Given the description of an element on the screen output the (x, y) to click on. 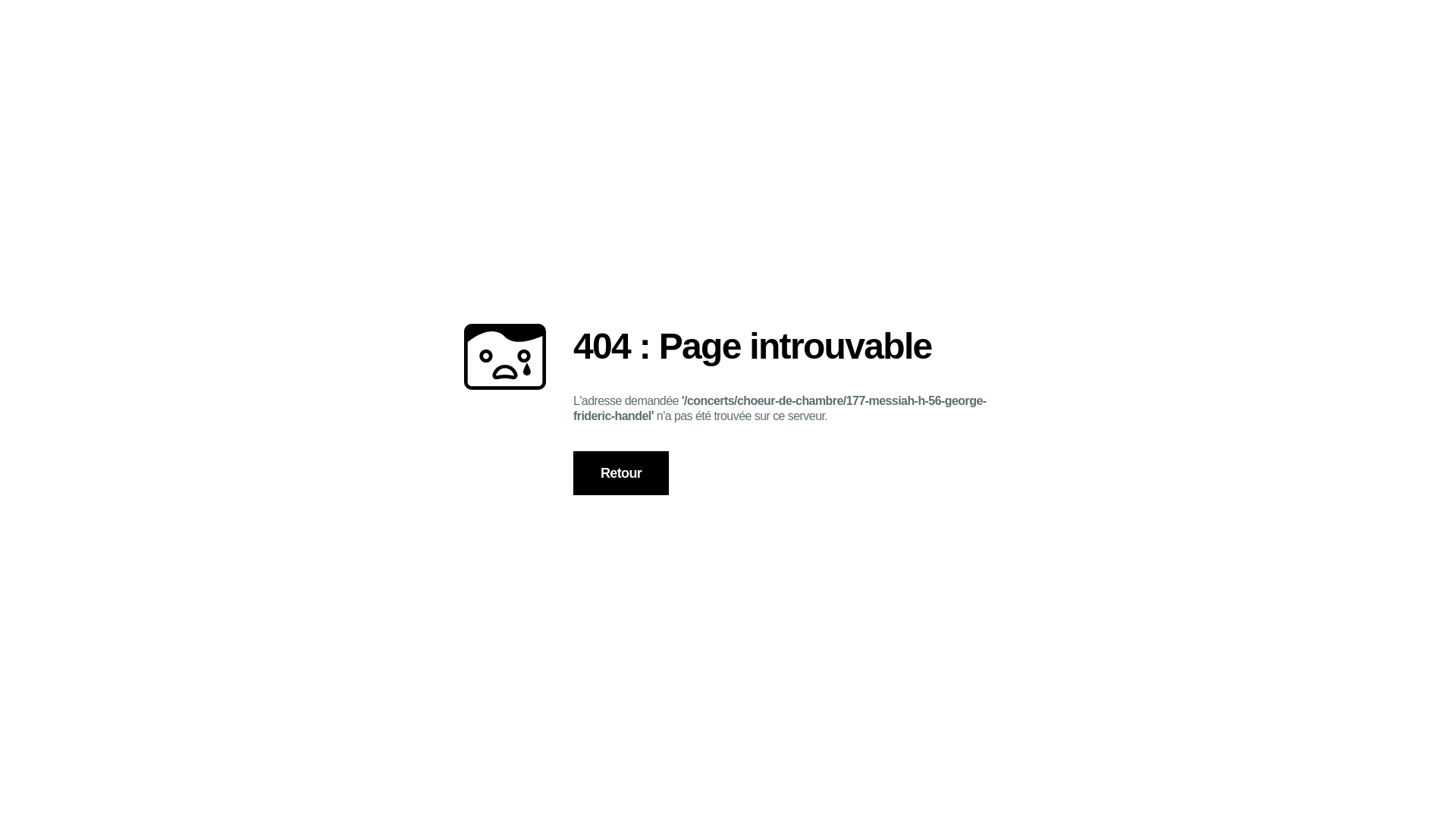
Retour Element type: text (620, 473)
